Given the description of an element on the screen output the (x, y) to click on. 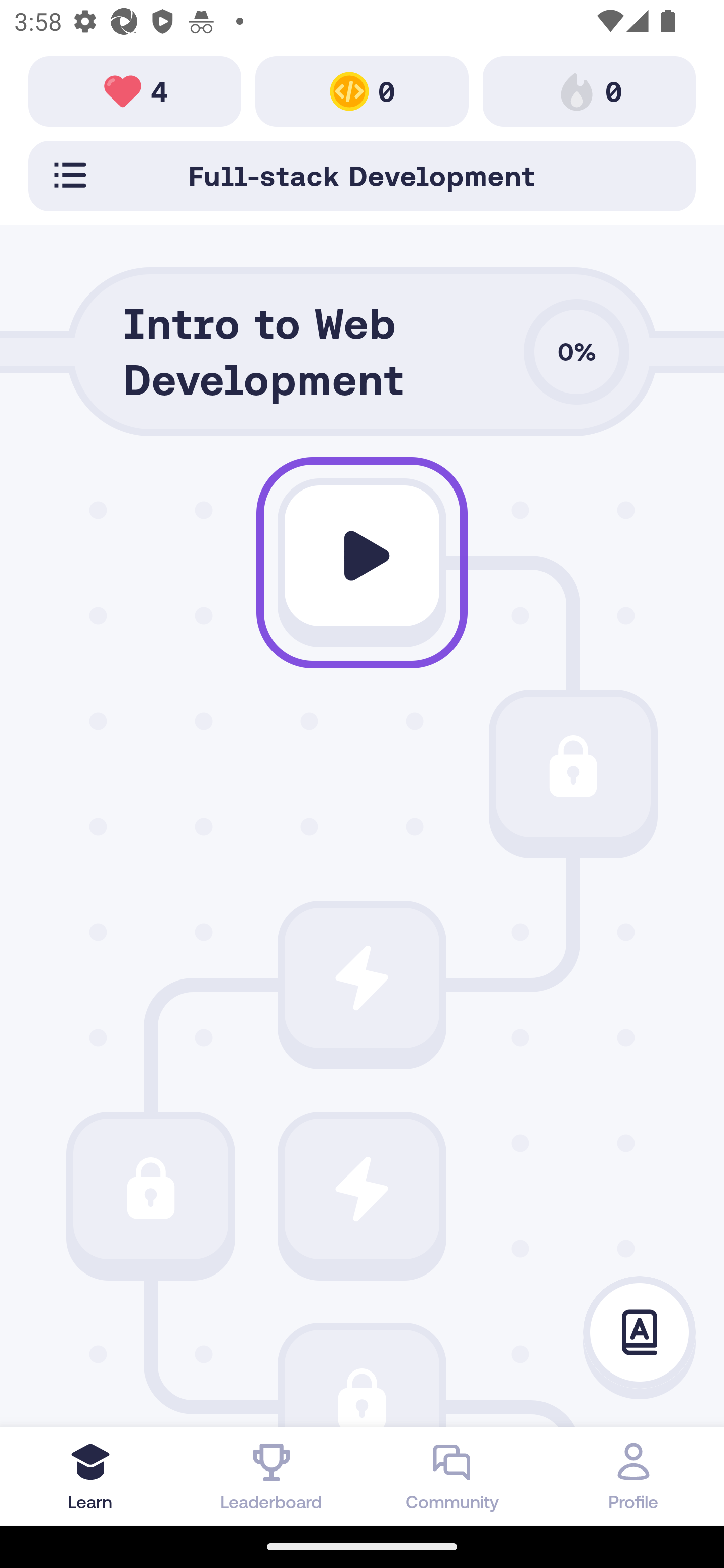
Path Toolbar Image 4 (134, 90)
Path Toolbar Image 0 (361, 90)
Path Toolbar Image 0 (588, 90)
Path Toolbar Selector Full-stack Development (361, 175)
Path Icon (361, 555)
Path Icon (572, 766)
Path Icon (361, 977)
Path Icon (150, 1188)
Path Icon (361, 1188)
Glossary Icon (639, 1332)
Path Icon (361, 1377)
Leaderboard (271, 1475)
Community (452, 1475)
Profile (633, 1475)
